Given the description of an element on the screen output the (x, y) to click on. 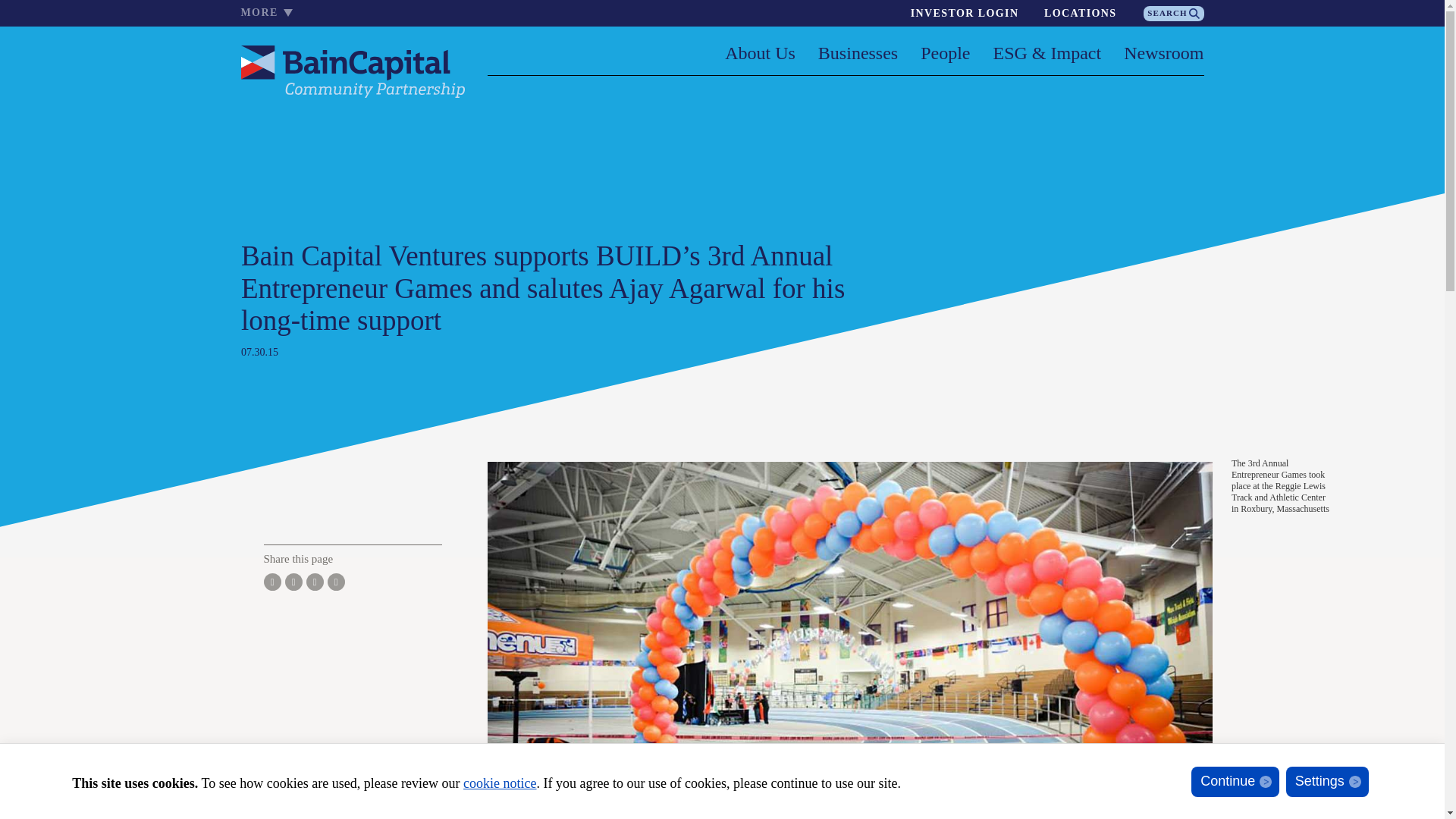
MORE (272, 12)
Bain Capital (352, 66)
LOCATIONS (1080, 13)
SEARCH (1173, 13)
INVESTOR LOGIN (964, 13)
